Given the description of an element on the screen output the (x, y) to click on. 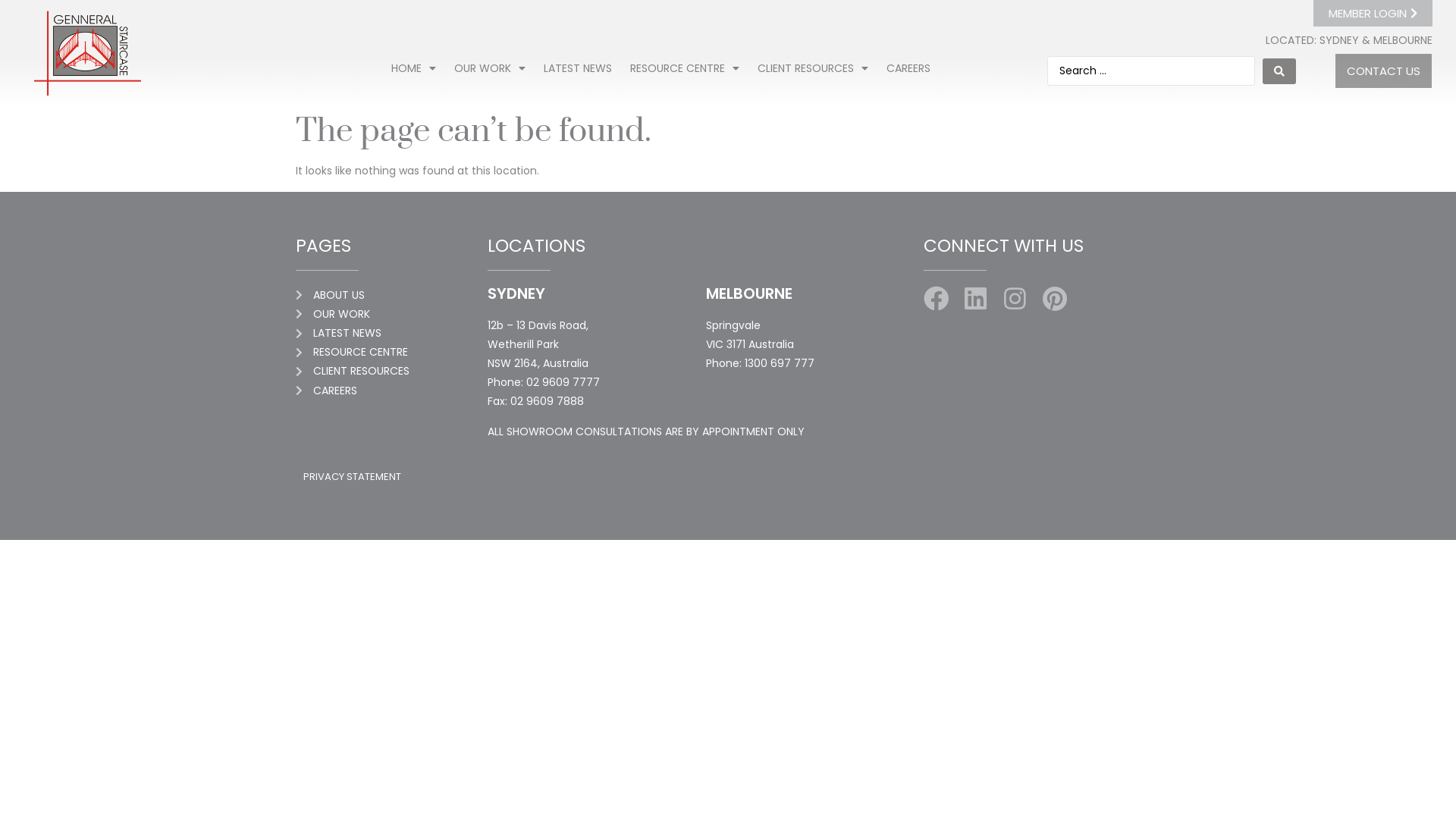
ABOUT US Element type: text (391, 294)
CAREERS Element type: text (908, 68)
LATEST NEWS Element type: text (391, 332)
CONTACT US Element type: text (1383, 70)
LATEST NEWS Element type: text (577, 68)
MEMBER LOGIN Element type: text (1372, 13)
PRIVACY STATEMENT Element type: text (352, 476)
CLIENT RESOURCES Element type: text (391, 370)
RESOURCE CENTRE Element type: text (684, 68)
RESOURCE CENTRE Element type: text (391, 351)
OUR WORK Element type: text (489, 68)
02 9609 7777 Element type: text (562, 381)
1300 697 777 Element type: text (779, 362)
HOME Element type: text (413, 68)
CLIENT RESOURCES Element type: text (812, 68)
OUR WORK Element type: text (391, 313)
CAREERS Element type: text (391, 390)
